Given the description of an element on the screen output the (x, y) to click on. 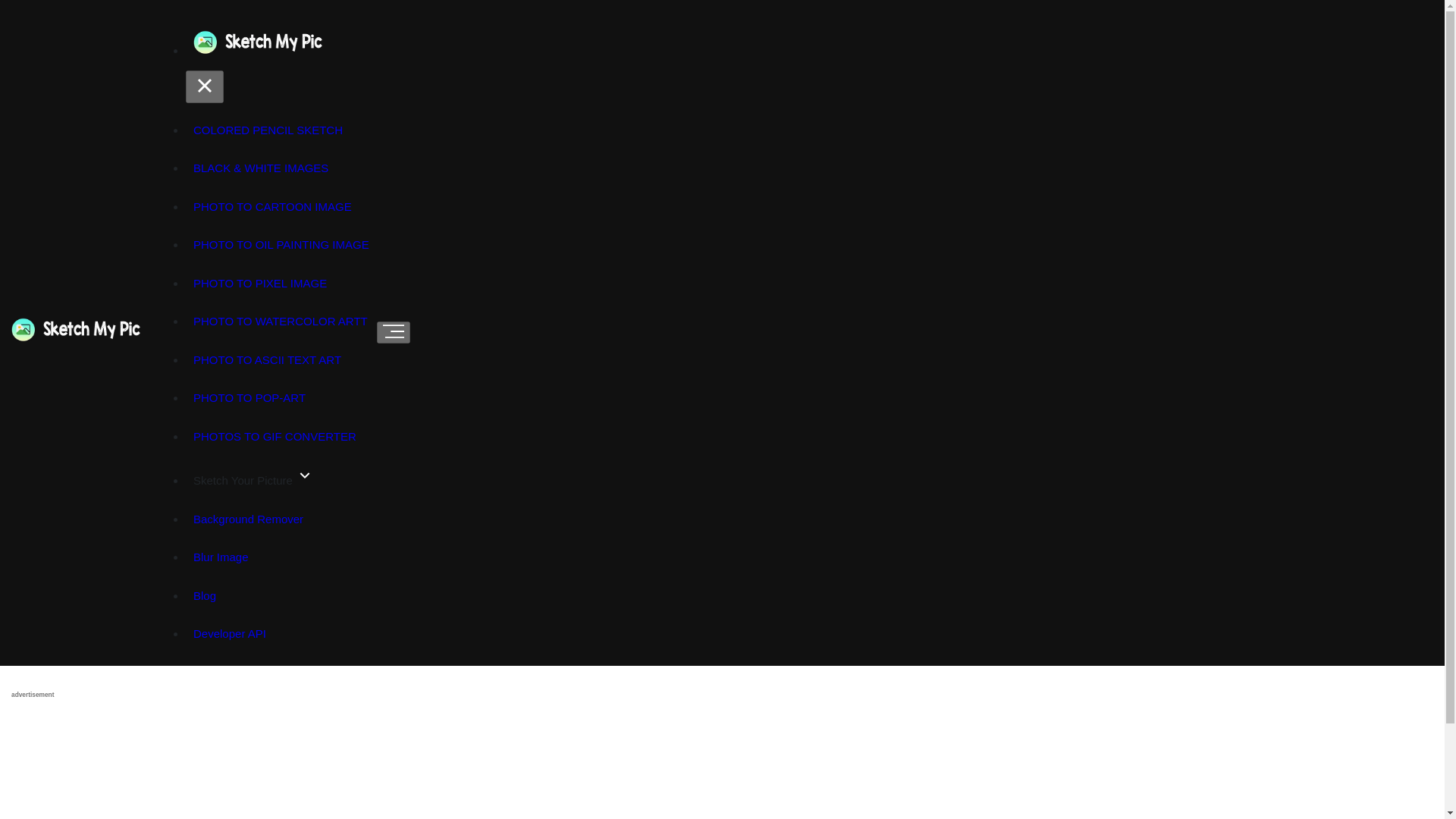
PHOTO TO POP-ART (249, 398)
COLORED PENCIL SKETCH (268, 129)
Background Remover (248, 519)
Developer API (229, 634)
PHOTO TO ASCII TEXT ART (267, 360)
Sketch Your Picture (253, 477)
PHOTOS TO GIF CONVERTER (275, 435)
PHOTO TO CARTOON IMAGE (272, 207)
PHOTO TO OIL PAINTING IMAGE (281, 245)
PHOTO TO WATERCOLOR ARTT (280, 321)
PHOTO TO PIXEL IMAGE (260, 282)
Blur Image (221, 557)
Blog (205, 595)
